Given the description of an element on the screen output the (x, y) to click on. 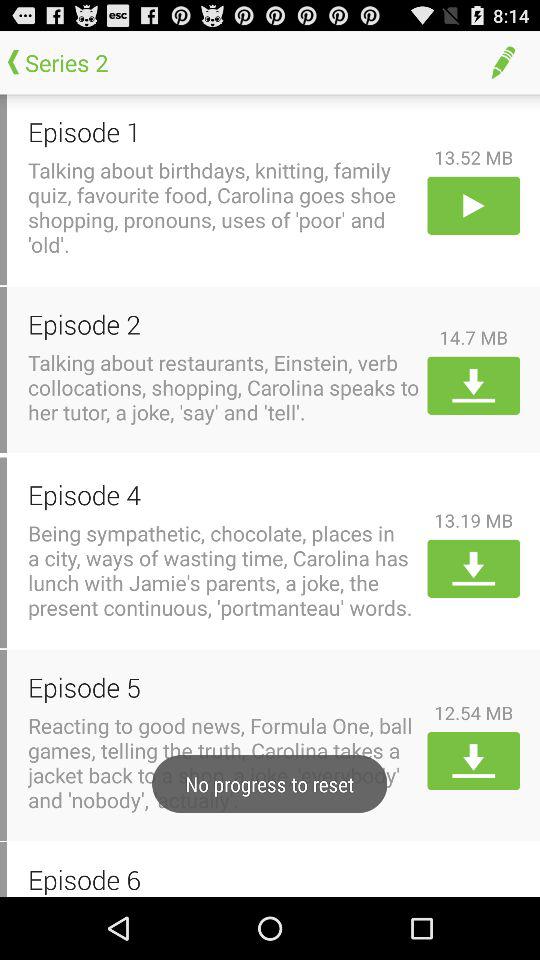
swipe until 14.7 mb icon (473, 337)
